Given the description of an element on the screen output the (x, y) to click on. 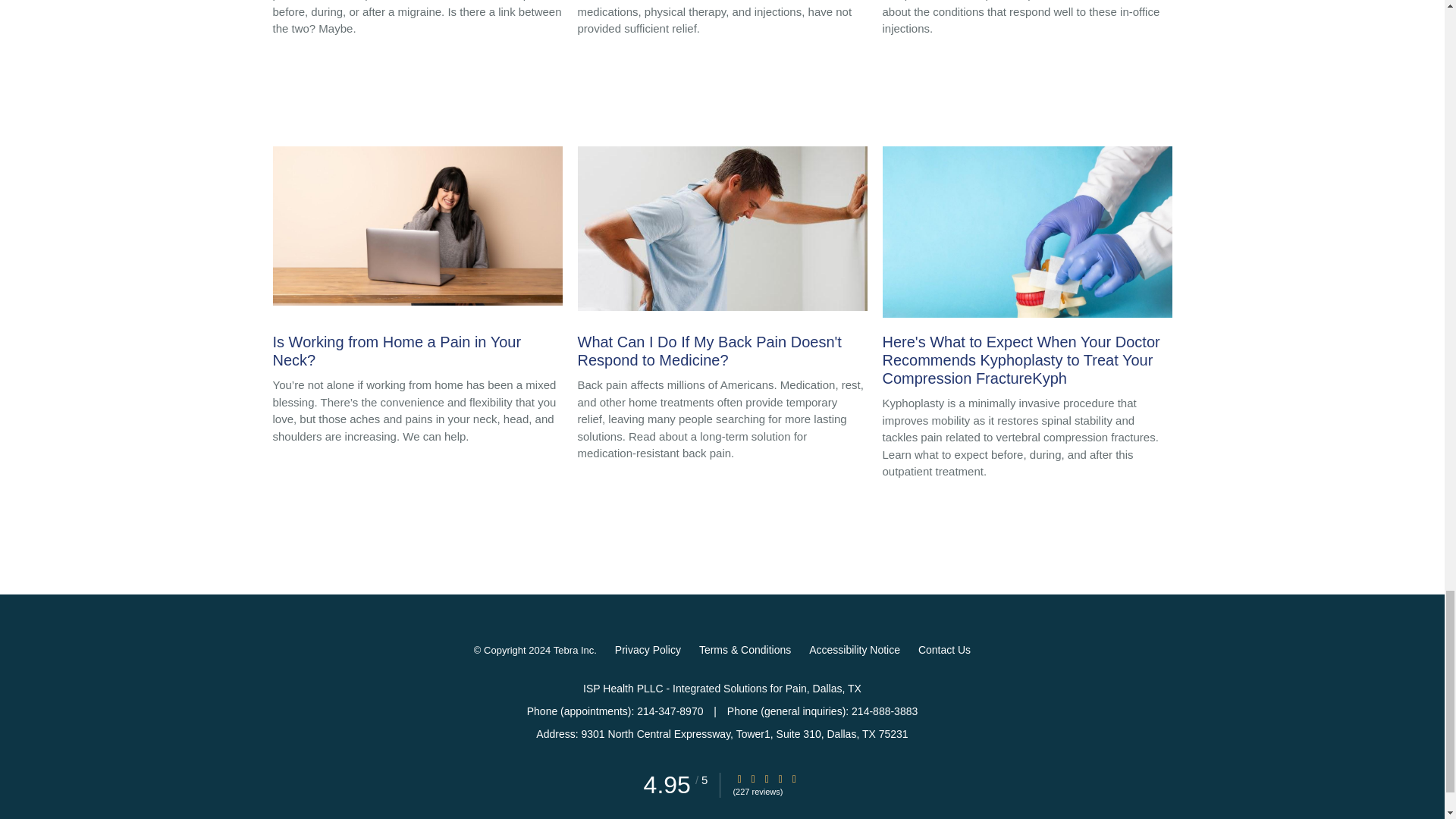
Star Rating (766, 778)
Star Rating (738, 778)
Star Rating (794, 778)
Star Rating (780, 778)
Star Rating (753, 778)
